Given the description of an element on the screen output the (x, y) to click on. 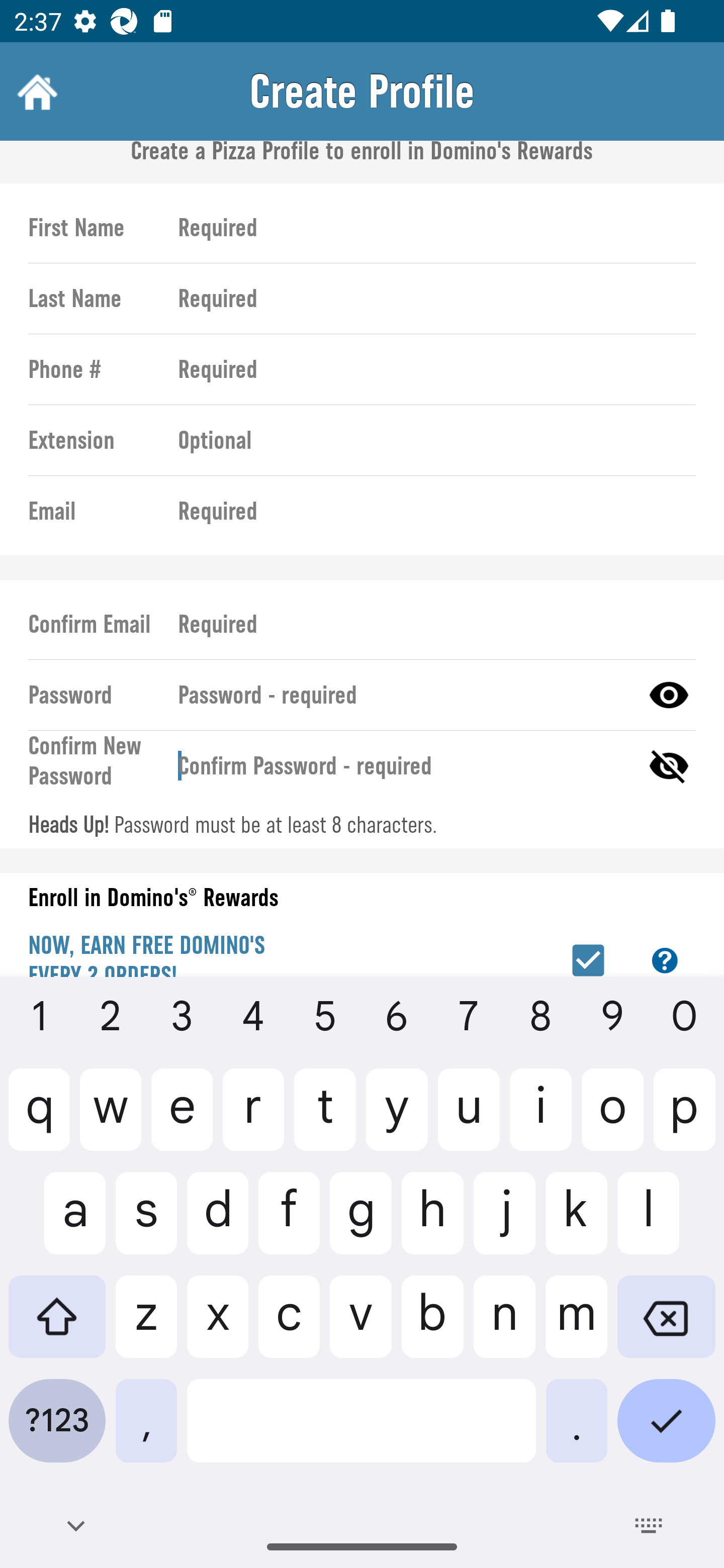
Home (35, 91)
Required First Name is required. 
 (427, 227)
Required Last Name is required. 
 (427, 298)
Required Phone Number is required. 
 (427, 368)
Optional Phone extension, optional (427, 439)
Required Email is required. 
 (427, 510)
Required Confirm Email Address (427, 624)
Password - required (401, 695)
Show Password (668, 695)
Confirm Password - required (401, 765)
Hide Password (668, 765)
Enroll in Piece of the Pie Rewards (588, 954)
